Given the description of an element on the screen output the (x, y) to click on. 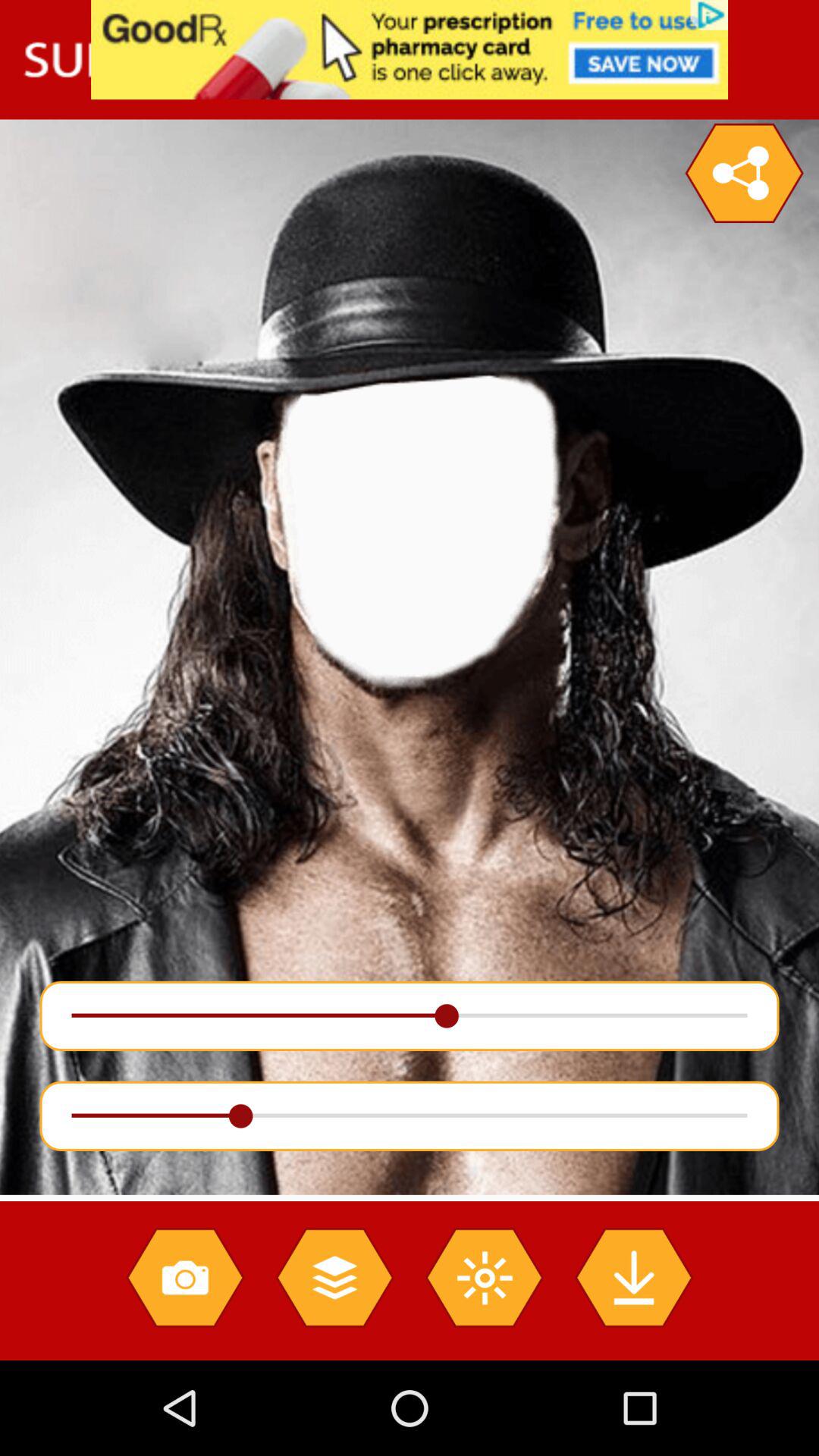
open playlist (334, 1277)
